Given the description of an element on the screen output the (x, y) to click on. 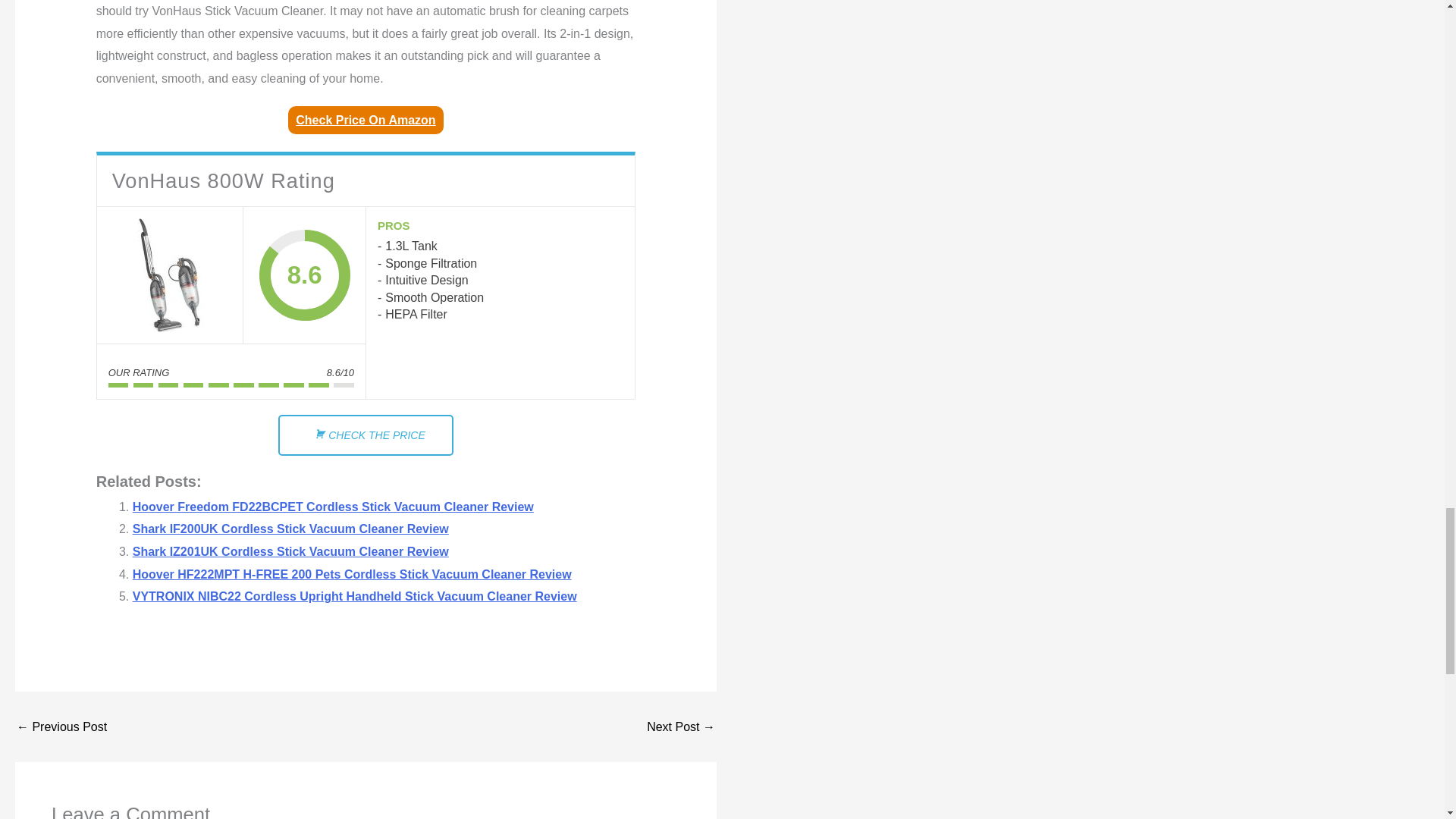
Shark IF200UK Cordless Stick Vacuum Cleaner Review (290, 528)
Check Price On Amazon (365, 120)
Shark IZ201UK Cordless Stick Vacuum Cleaner Review (290, 551)
CHECK THE PRICE (365, 434)
Shark IF200UK Cordless Stick Vacuum Cleaner Review (290, 528)
VonHaus 800W Rating (170, 275)
Shark IZ201UK Cordless Stick Vacuum Cleaner Review (290, 551)
Jashen V16 Cordless Vacuum Cleaner Review (680, 727)
